Given the description of an element on the screen output the (x, y) to click on. 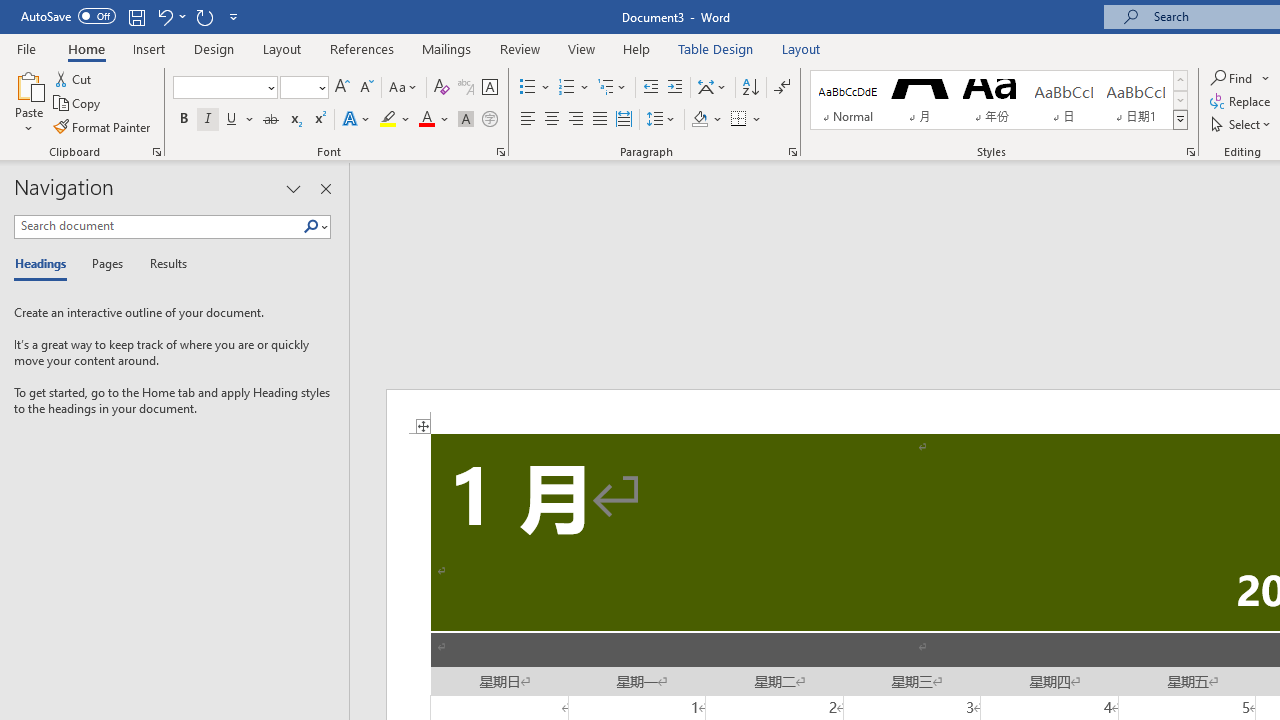
Sort... (750, 87)
Shading RGB(0, 0, 0) (699, 119)
Font Color (434, 119)
Text Effects and Typography (357, 119)
Font... (500, 151)
Undo Italic (164, 15)
